Given the description of an element on the screen output the (x, y) to click on. 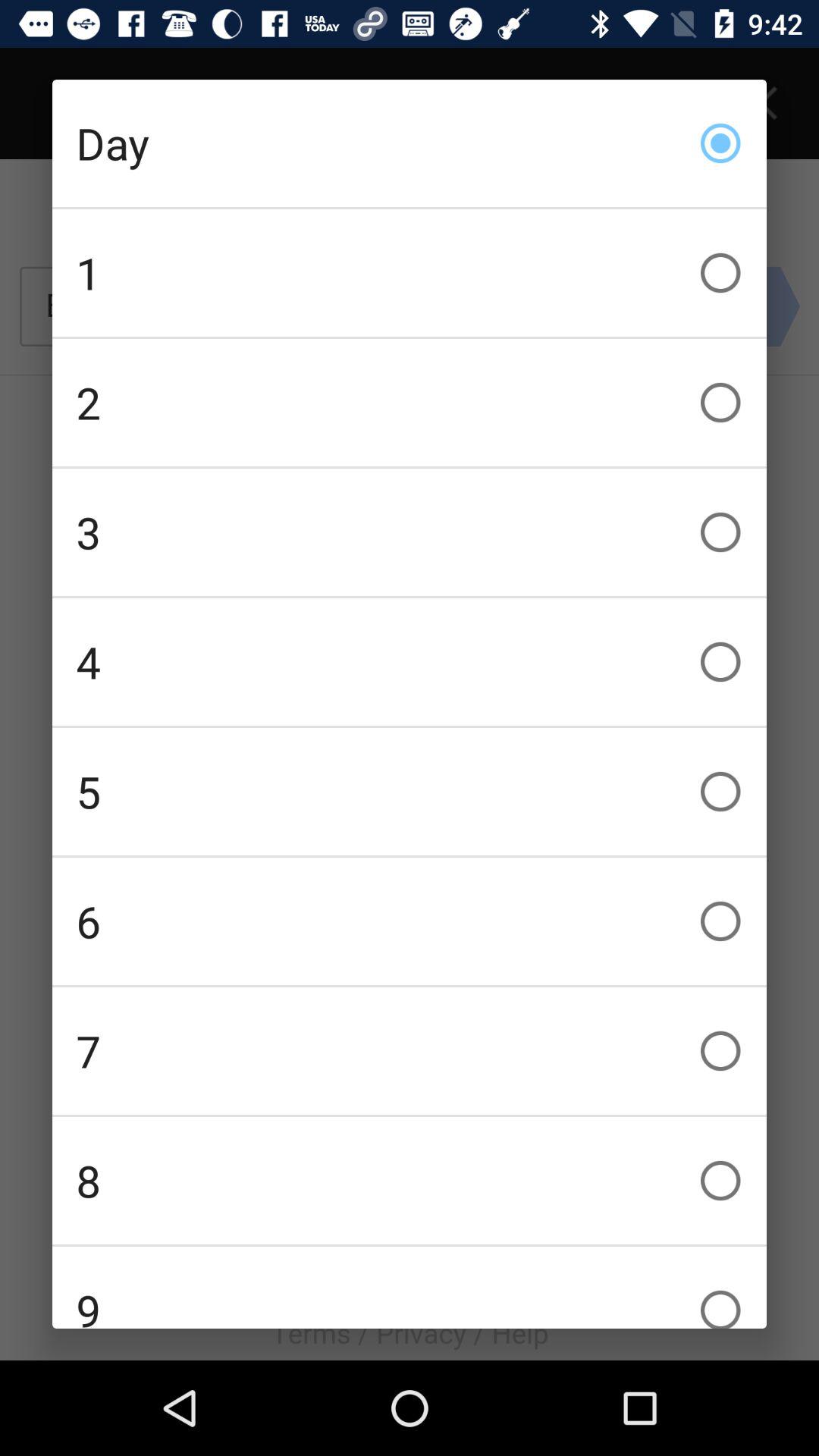
click icon above the 4 checkbox (409, 532)
